Given the description of an element on the screen output the (x, y) to click on. 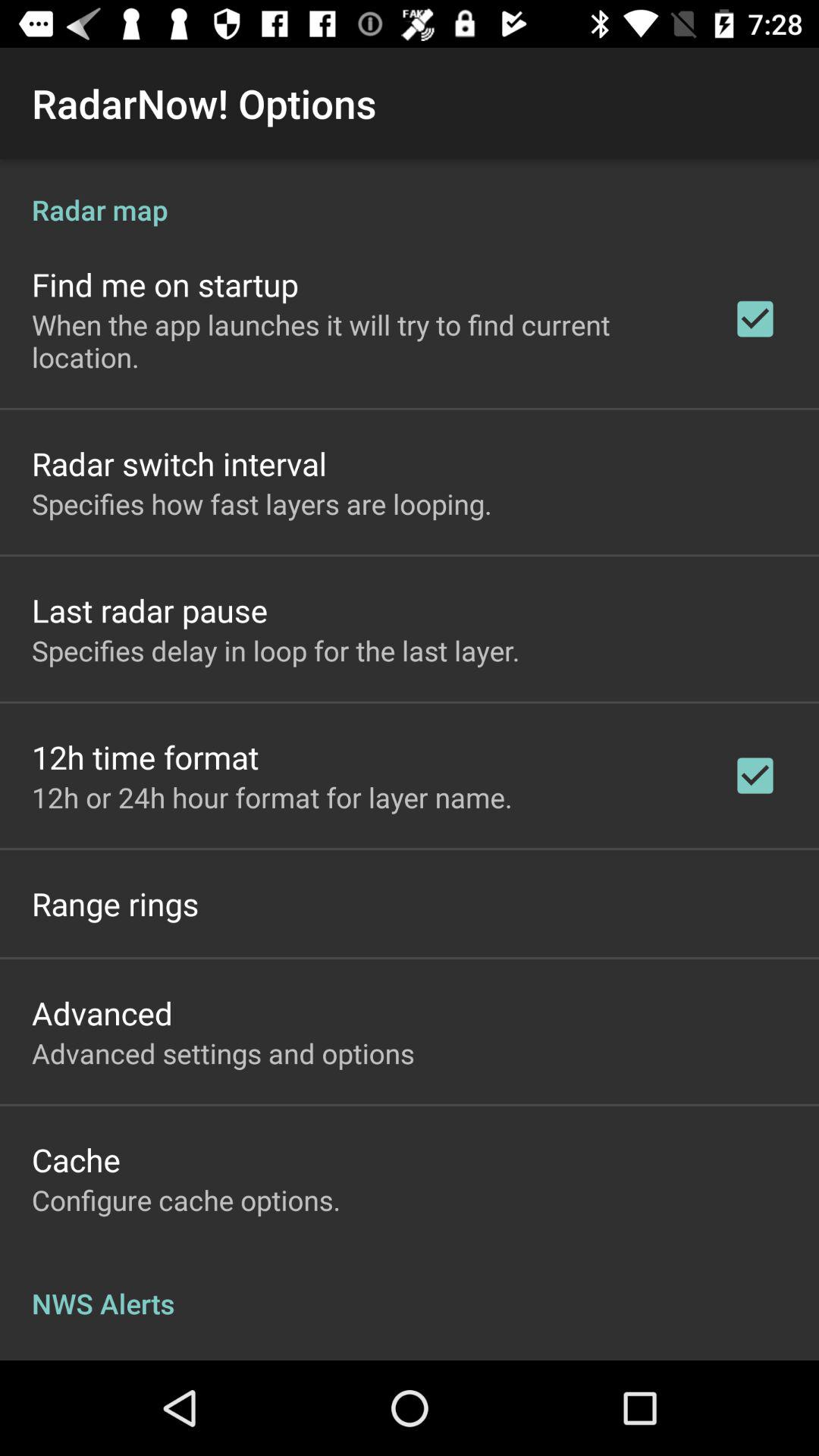
jump to the advanced settings and item (222, 1053)
